Given the description of an element on the screen output the (x, y) to click on. 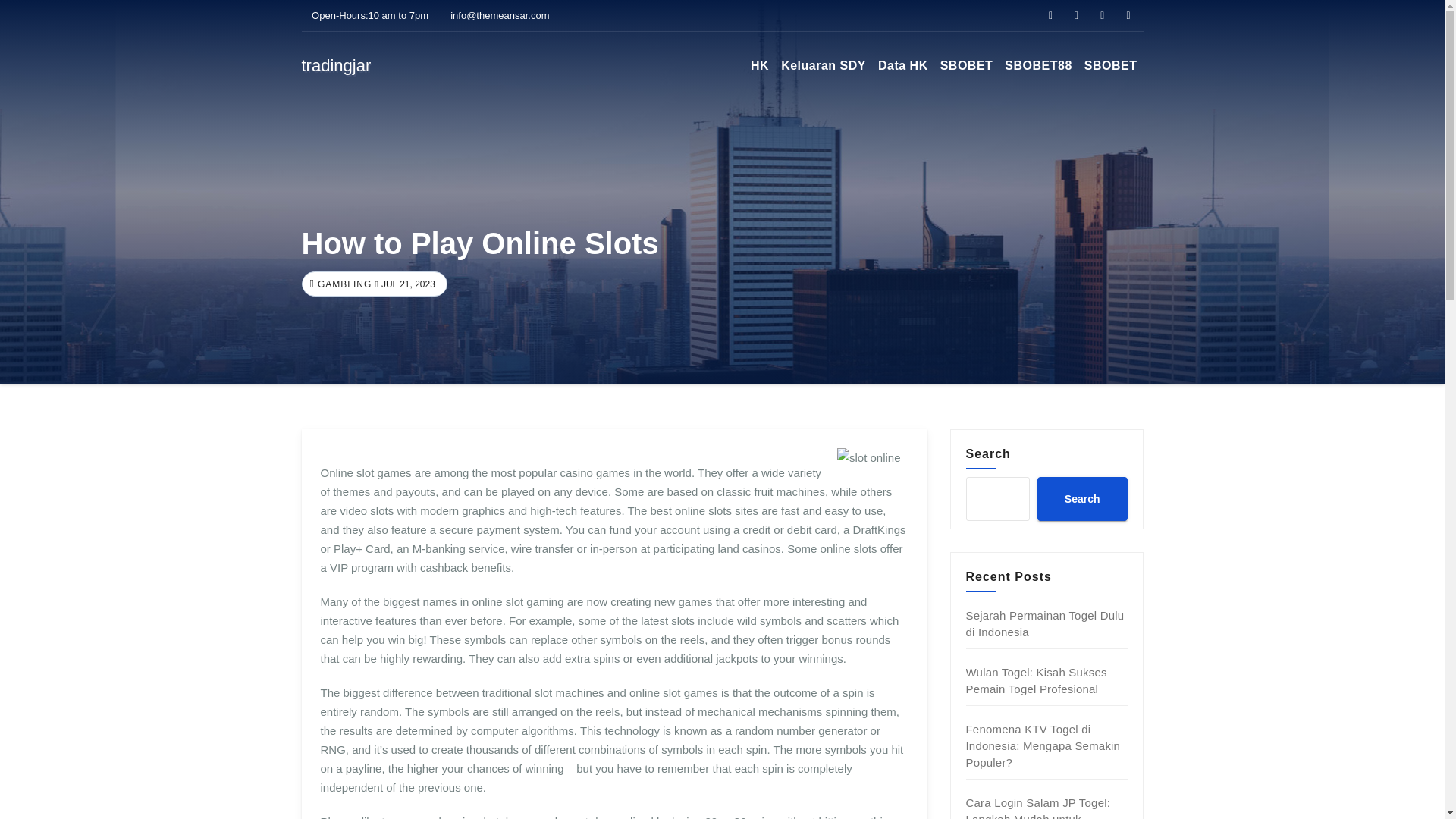
SBOBET (1110, 65)
SBOBET88 (1037, 65)
Keluaran SDY (823, 65)
Search (1081, 498)
SBOBET (966, 65)
GAMBLING (342, 284)
SBOBET88 (1037, 65)
tradingjar (336, 65)
Fenomena KTV Togel di Indonesia: Mengapa Semakin Populer? (1043, 745)
